Given the description of an element on the screen output the (x, y) to click on. 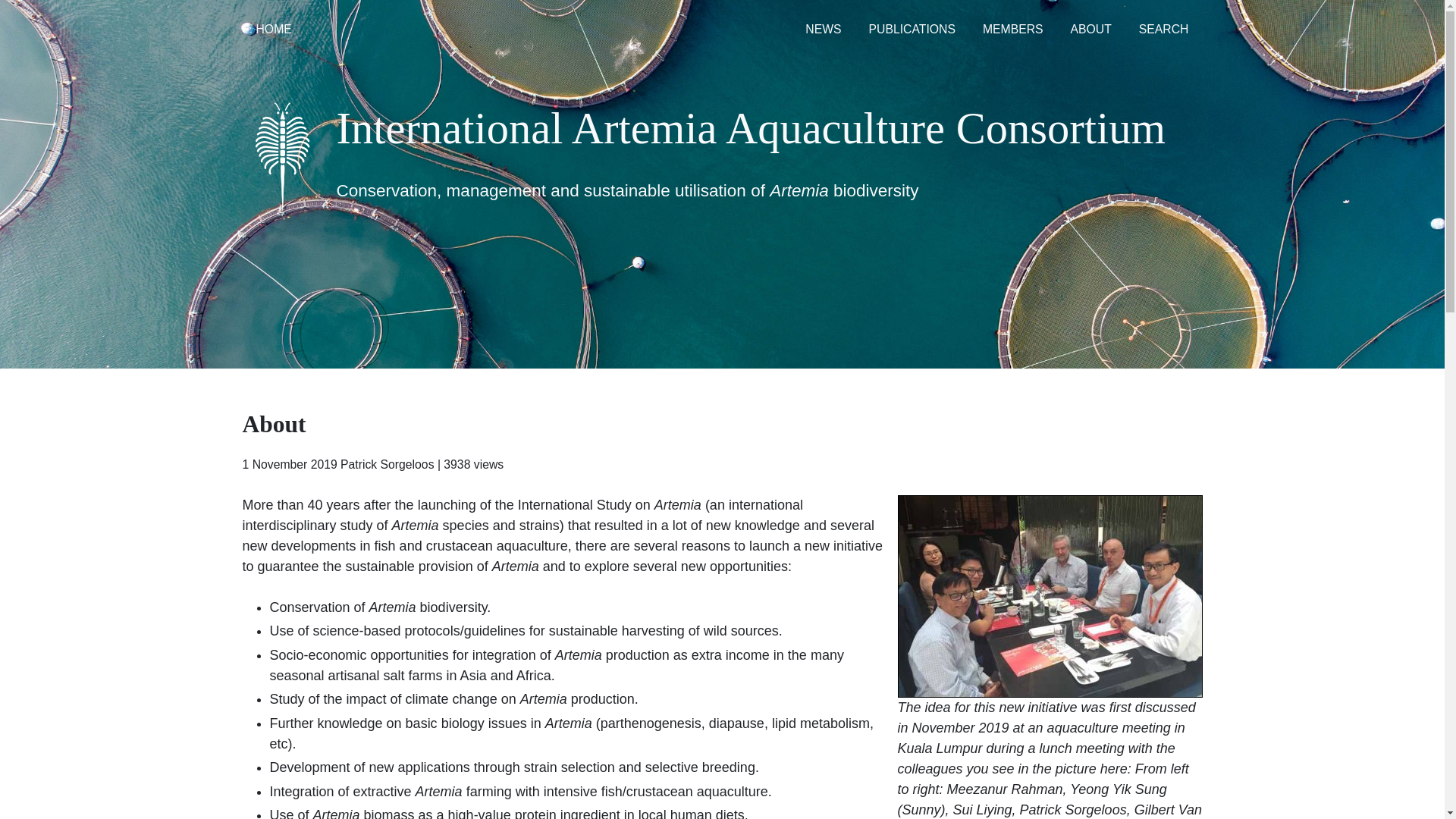
HOME (274, 29)
SEARCH (1163, 29)
NEWS (823, 29)
ABOUT (1091, 29)
MEMBERS (1013, 29)
PUBLICATIONS (912, 29)
